Given the description of an element on the screen output the (x, y) to click on. 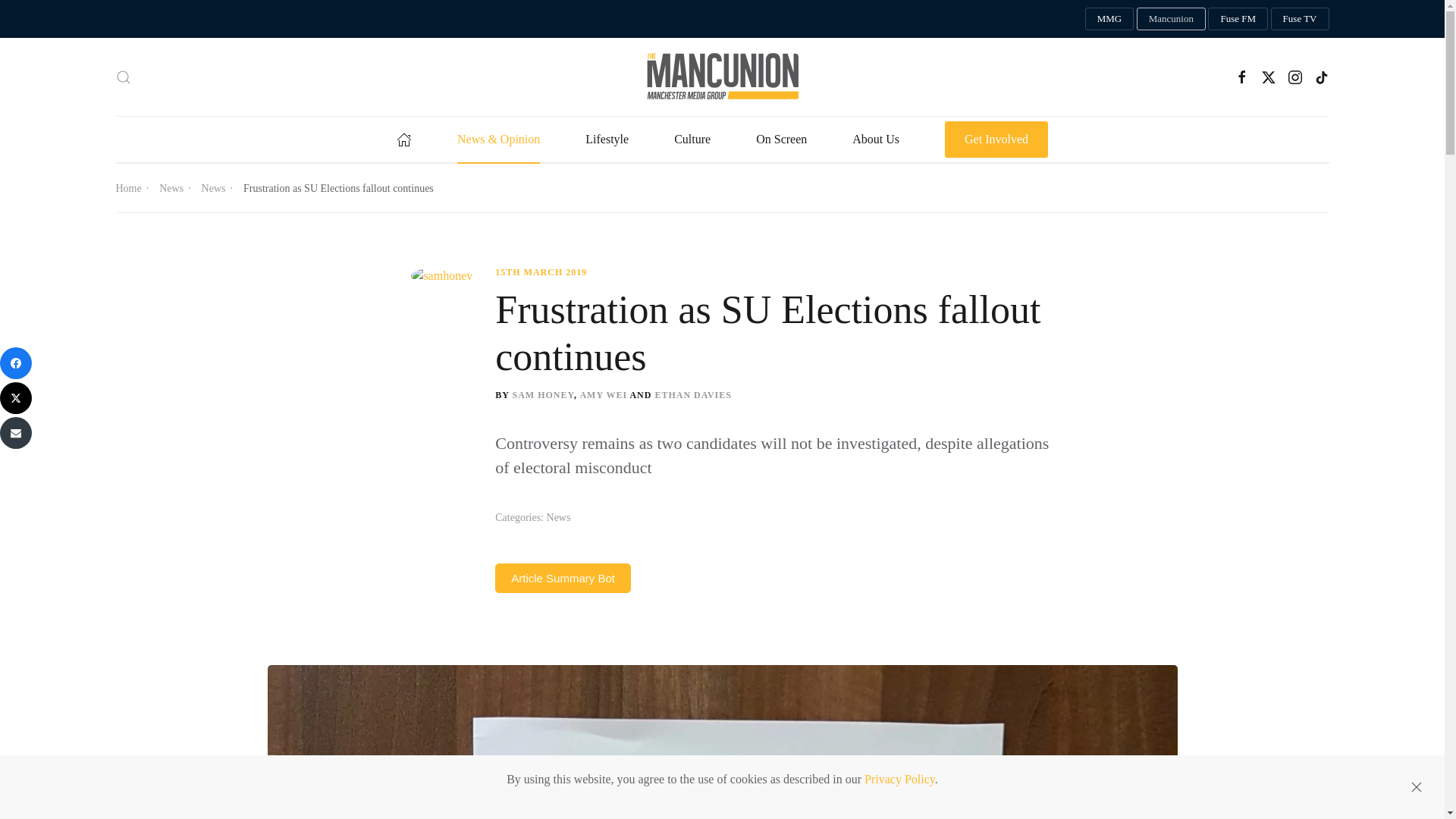
MMG (1109, 18)
Fuse TV (1300, 18)
Manchester University Mancunion Newspaper (1171, 18)
Posts by Sam Honey (542, 394)
Mancunion (1171, 18)
Manchester Fuse TV (1300, 18)
Posts by Ethan Davies (691, 394)
Manchester Media Group (1109, 18)
Fuse FM (1238, 18)
Posts by Amy Wei (603, 394)
Manchester Fuse FM (1238, 18)
